Given the description of an element on the screen output the (x, y) to click on. 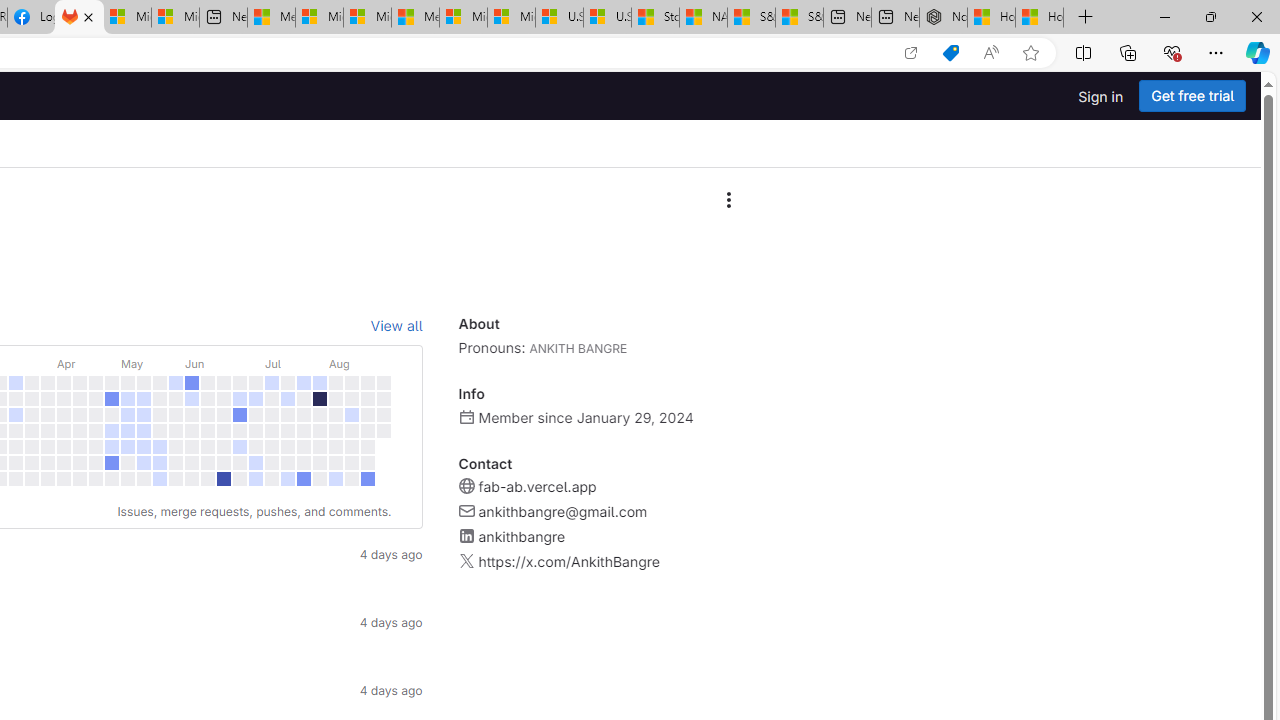
Get free trial (1192, 95)
